Given the description of an element on the screen output the (x, y) to click on. 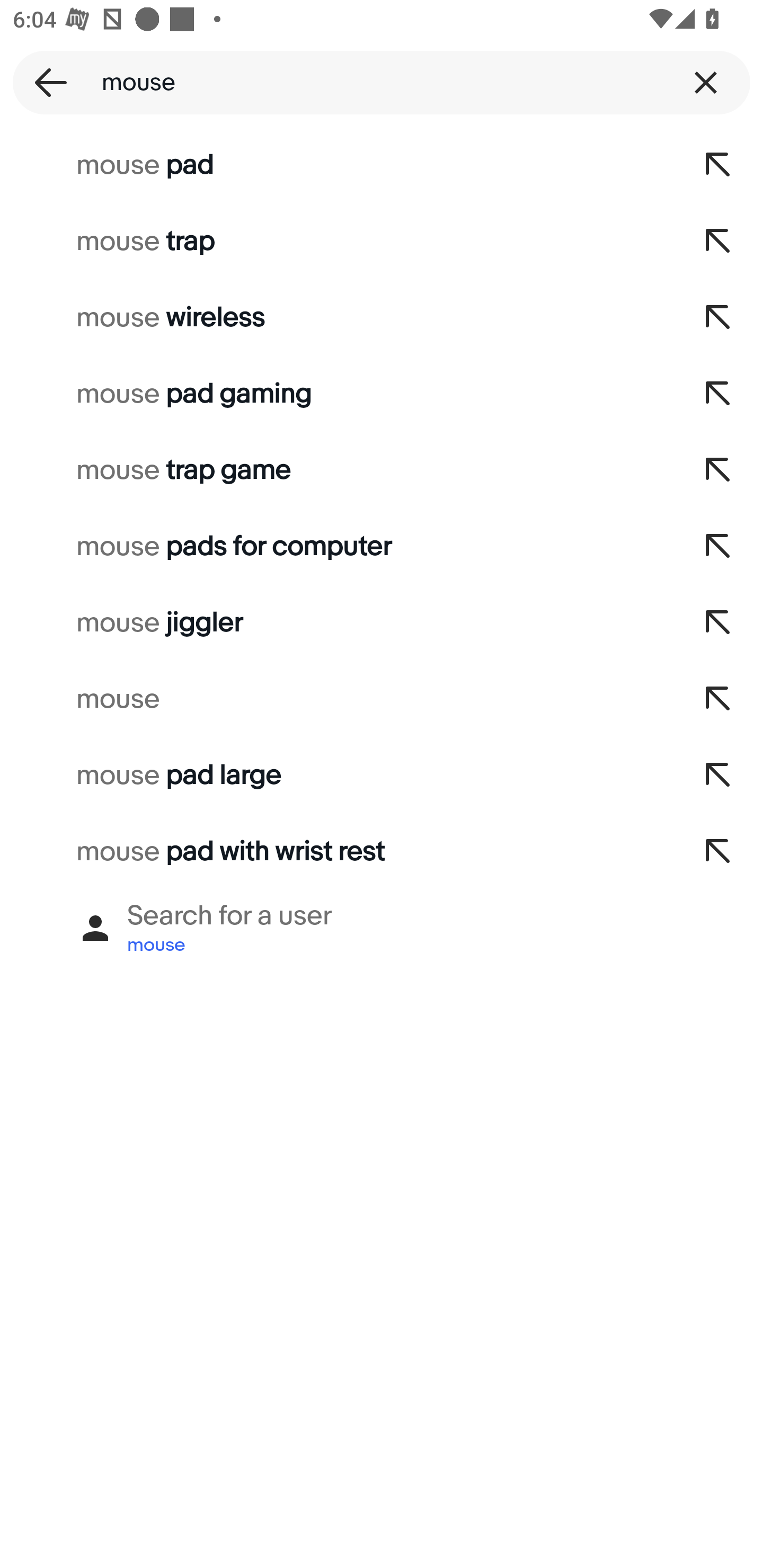
Back (44, 82)
Clear query (705, 82)
mouse (381, 82)
mouse pad (336, 165)
Add to search query,mouse pad (718, 165)
mouse trap (336, 241)
Add to search query,mouse trap (718, 241)
mouse wireless (336, 317)
Add to search query,mouse wireless (718, 317)
mouse pad gaming (336, 393)
Add to search query,mouse pad gaming (718, 393)
mouse trap game (336, 470)
Add to search query,mouse trap game (718, 470)
mouse pads for computer (336, 546)
Add to search query,mouse pads for computer (718, 546)
mouse jiggler (336, 622)
Add to search query,mouse jiggler (718, 622)
mouse (336, 698)
Add to search query,mouse (718, 698)
mouse pad large (336, 774)
Add to search query,mouse pad large (718, 774)
mouse pad with wrist rest (336, 851)
Add to search query,mouse pad with wrist rest (718, 851)
Search for a user
mouse (381, 927)
